Given the description of an element on the screen output the (x, y) to click on. 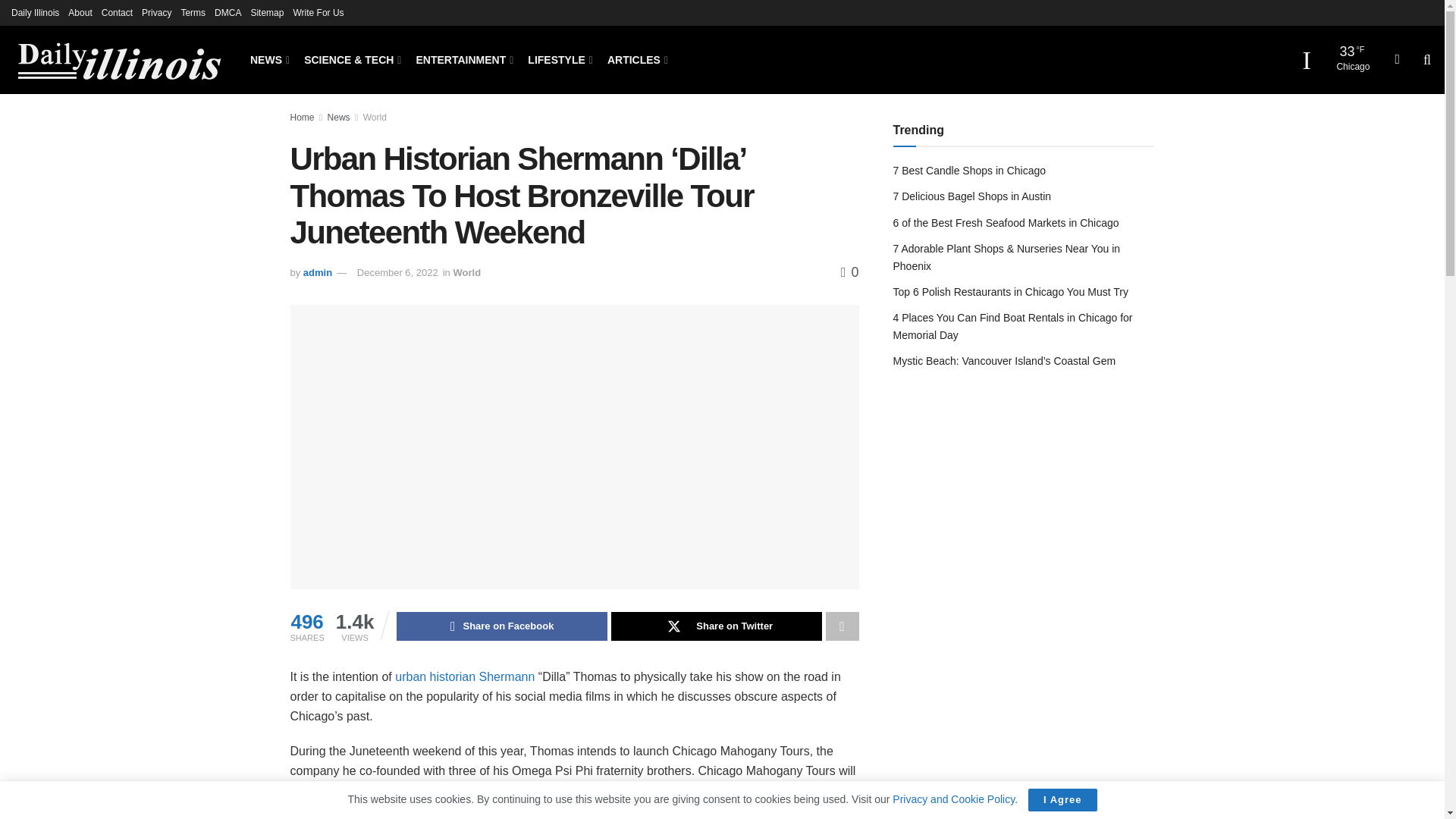
About (79, 12)
Write For Us (317, 12)
Sitemap (266, 12)
DMCA (227, 12)
Privacy (156, 12)
NEWS (268, 59)
Daily Illinois (35, 12)
Contact (116, 12)
Terms (192, 12)
